Given the description of an element on the screen output the (x, y) to click on. 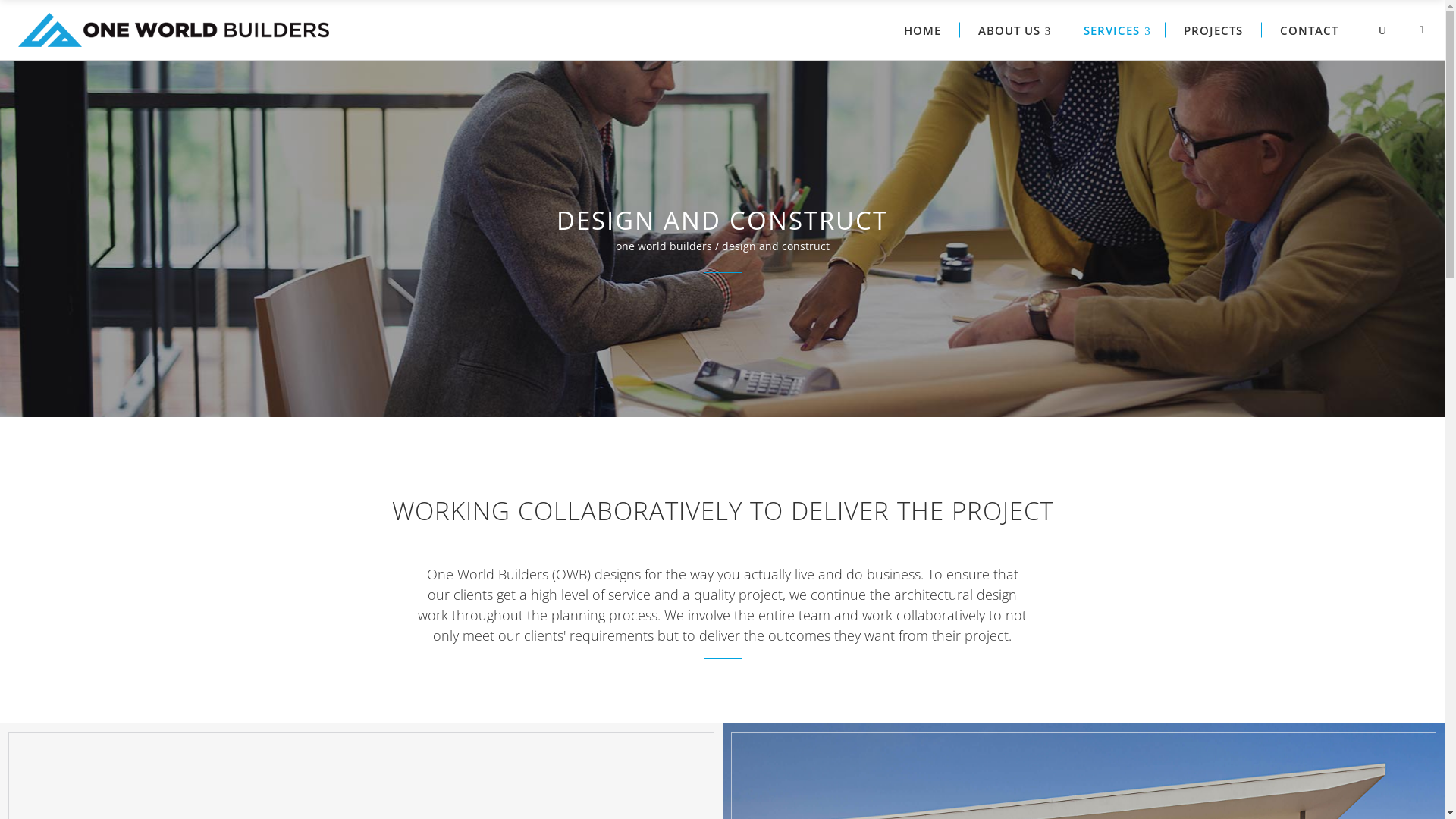
HOME Element type: text (922, 29)
ABOUT US Element type: text (1013, 29)
SERVICES Element type: text (1115, 29)
CONTACT Element type: text (1308, 29)
one world builders Element type: text (663, 246)
PROJECTS Element type: text (1213, 29)
